Given the description of an element on the screen output the (x, y) to click on. 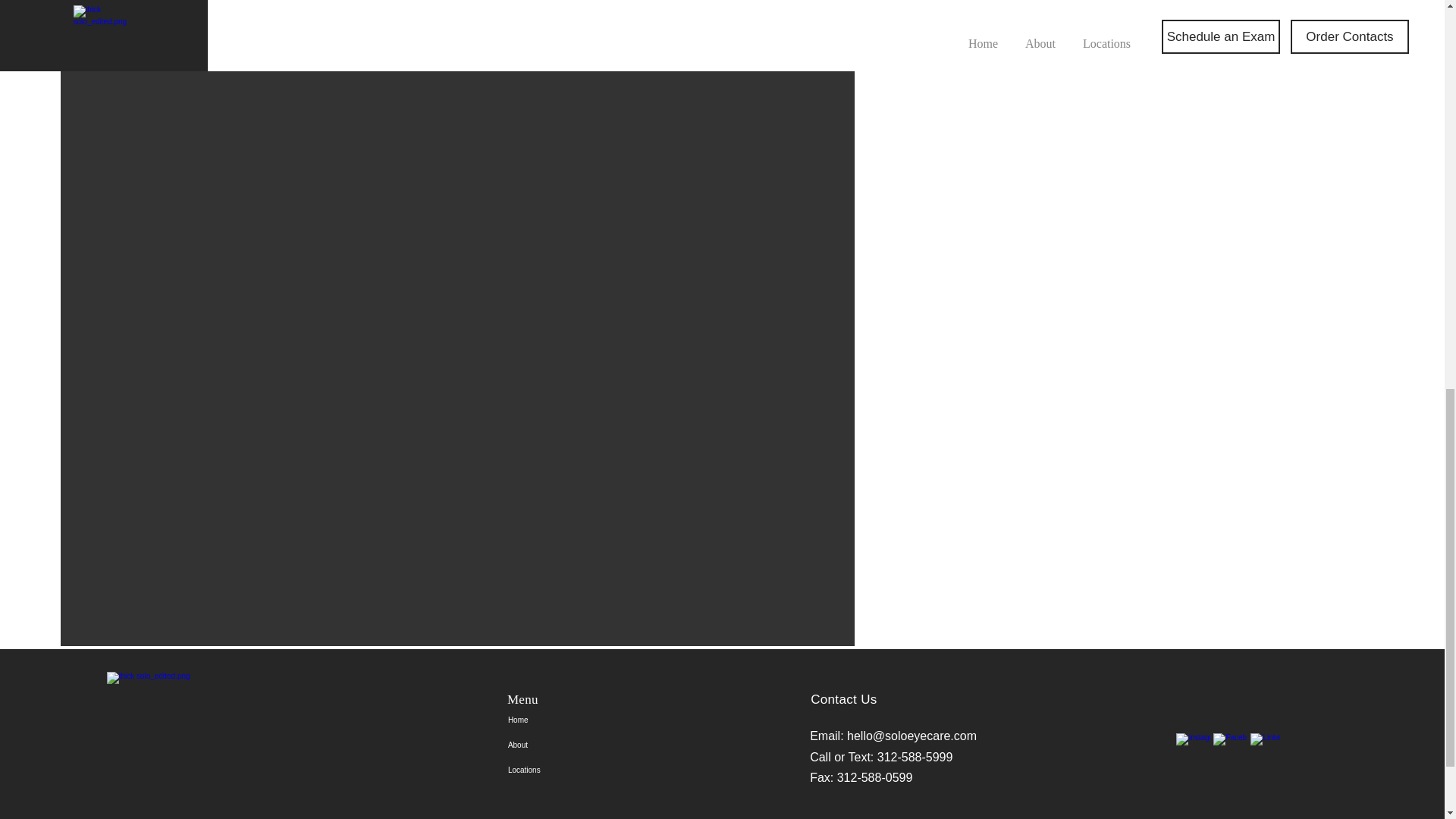
Locations (553, 769)
About (553, 744)
Home (553, 719)
